Given the description of an element on the screen output the (x, y) to click on. 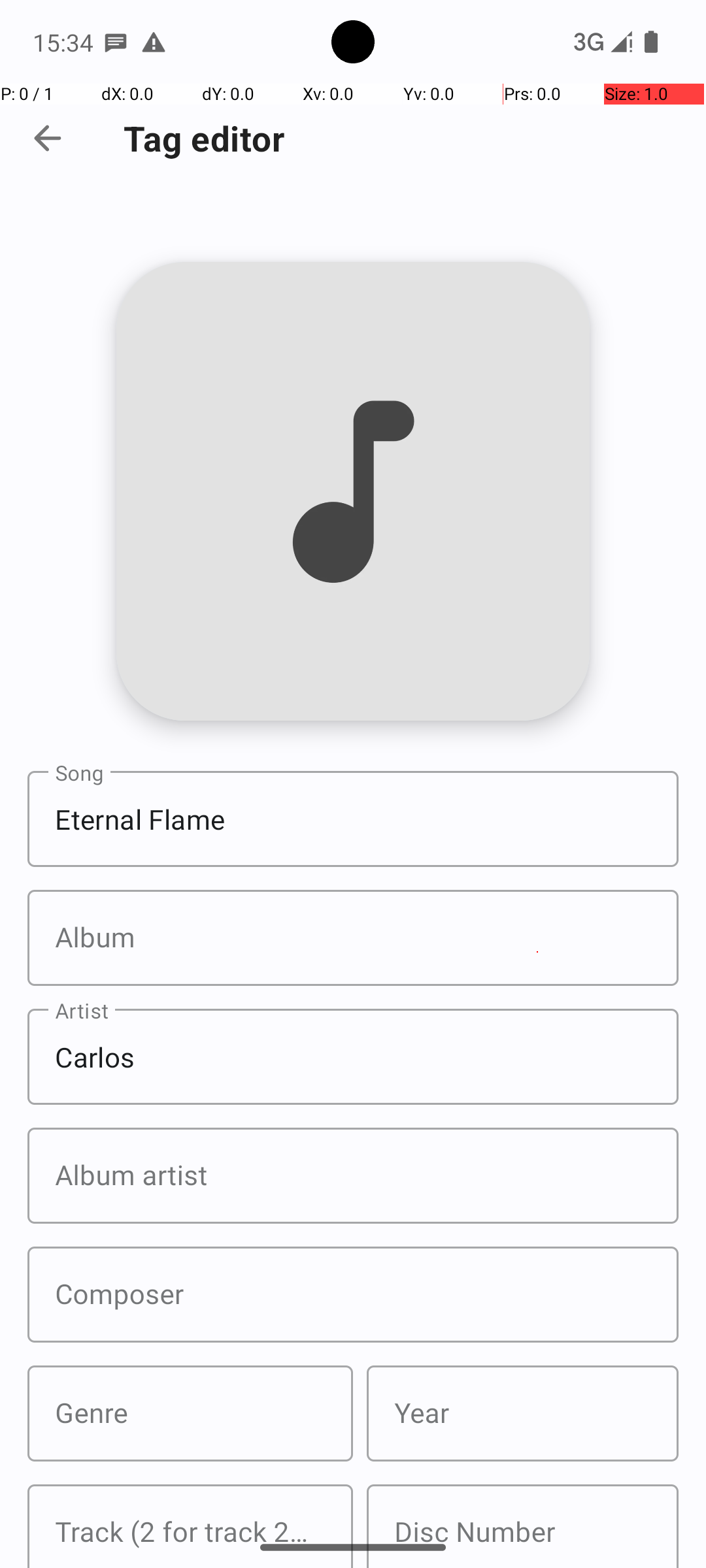
Tag editor Element type: android.widget.TextView (204, 137)
Eternal Flame Element type: android.widget.EditText (352, 818)
Album Element type: android.widget.EditText (352, 937)
Carlos Element type: android.widget.EditText (352, 1056)
Album artist Element type: android.widget.EditText (352, 1175)
Composer Element type: android.widget.EditText (352, 1294)
Genre Element type: android.widget.EditText (190, 1413)
Year Element type: android.widget.EditText (522, 1413)
Track (2 for track 2 or 3004 for CD3 track 4) Element type: android.widget.EditText (190, 1526)
Disc Number Element type: android.widget.EditText (522, 1526)
